Given the description of an element on the screen output the (x, y) to click on. 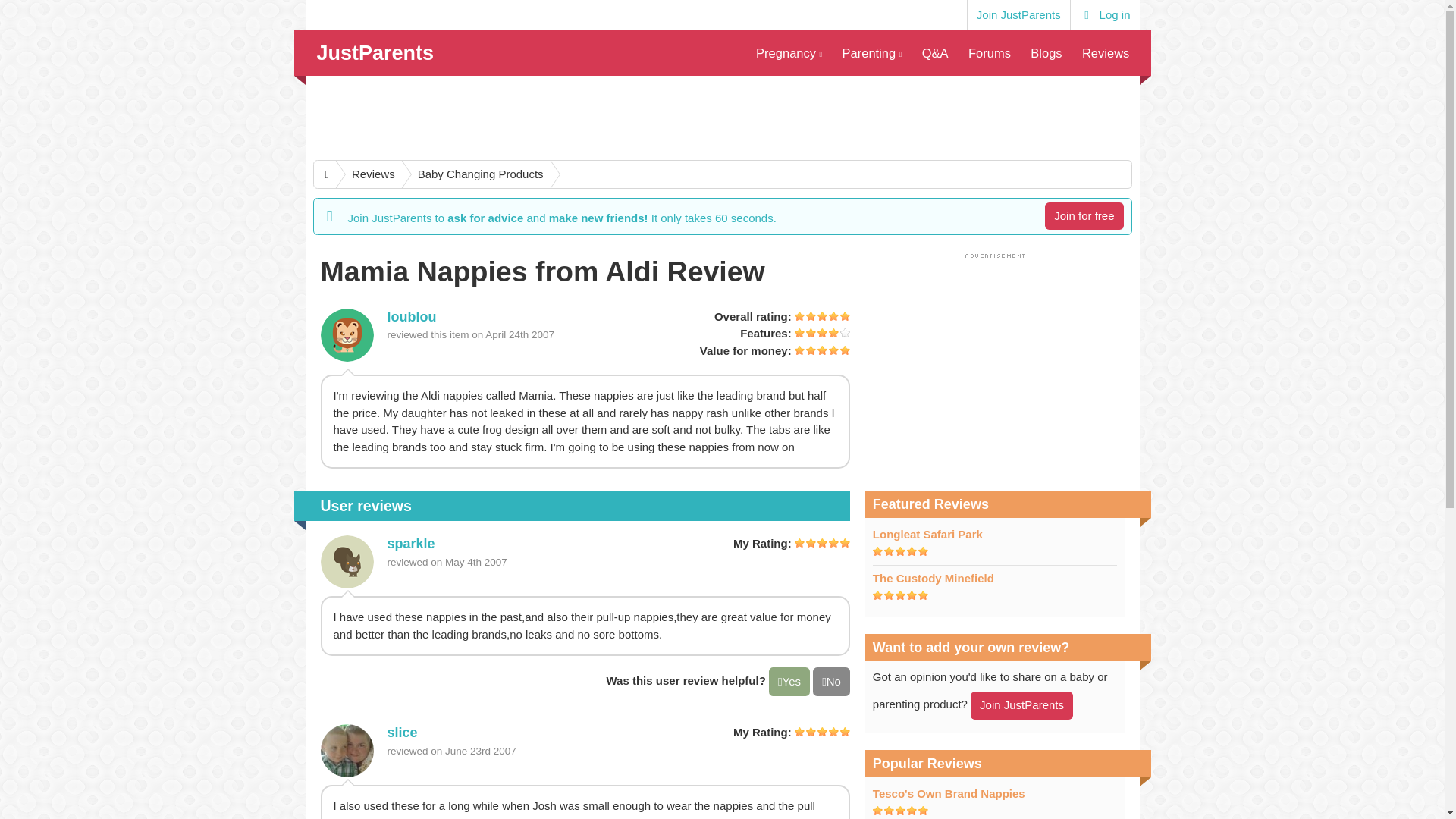
Excellent (822, 731)
Yes (788, 681)
Parenting (871, 53)
The Custody Minefield (933, 577)
Excellent (900, 594)
loublou (346, 334)
Baby Changing Products (473, 174)
Longleat Safari Park (927, 533)
slice (401, 732)
Excellent (822, 316)
